Given the description of an element on the screen output the (x, y) to click on. 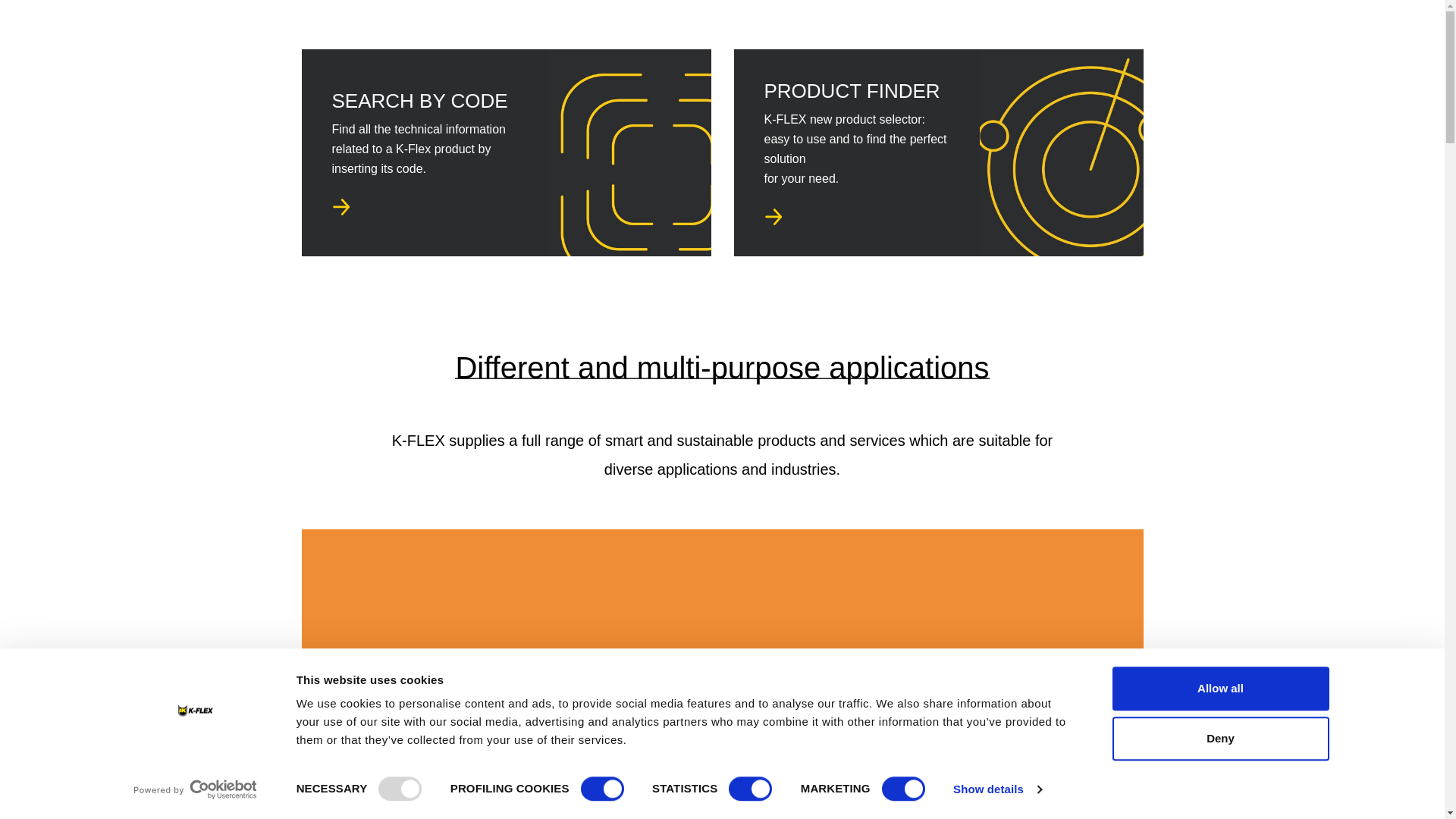
Allow all (1219, 688)
Show details (997, 789)
Deny (1219, 738)
EN (1025, 30)
